Given the description of an element on the screen output the (x, y) to click on. 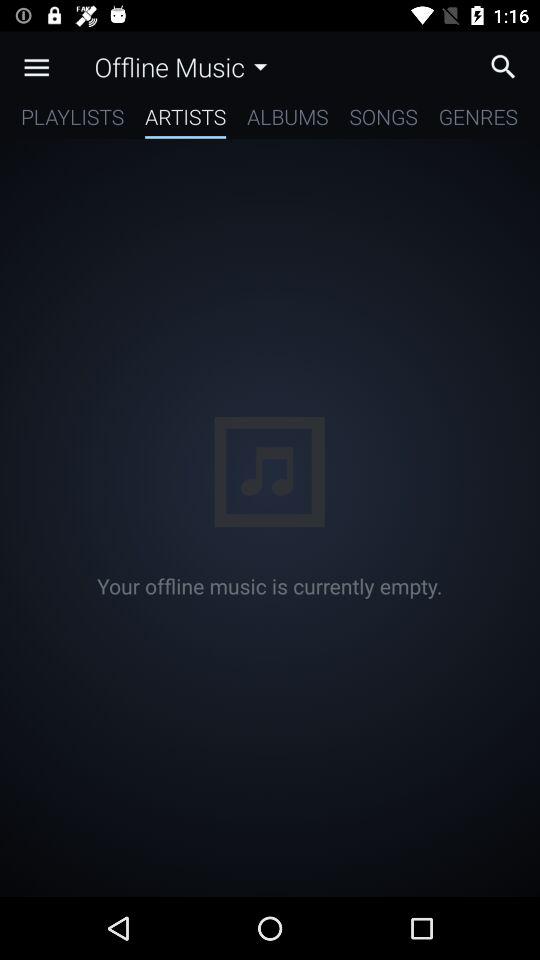
jump until genres app (477, 120)
